Given the description of an element on the screen output the (x, y) to click on. 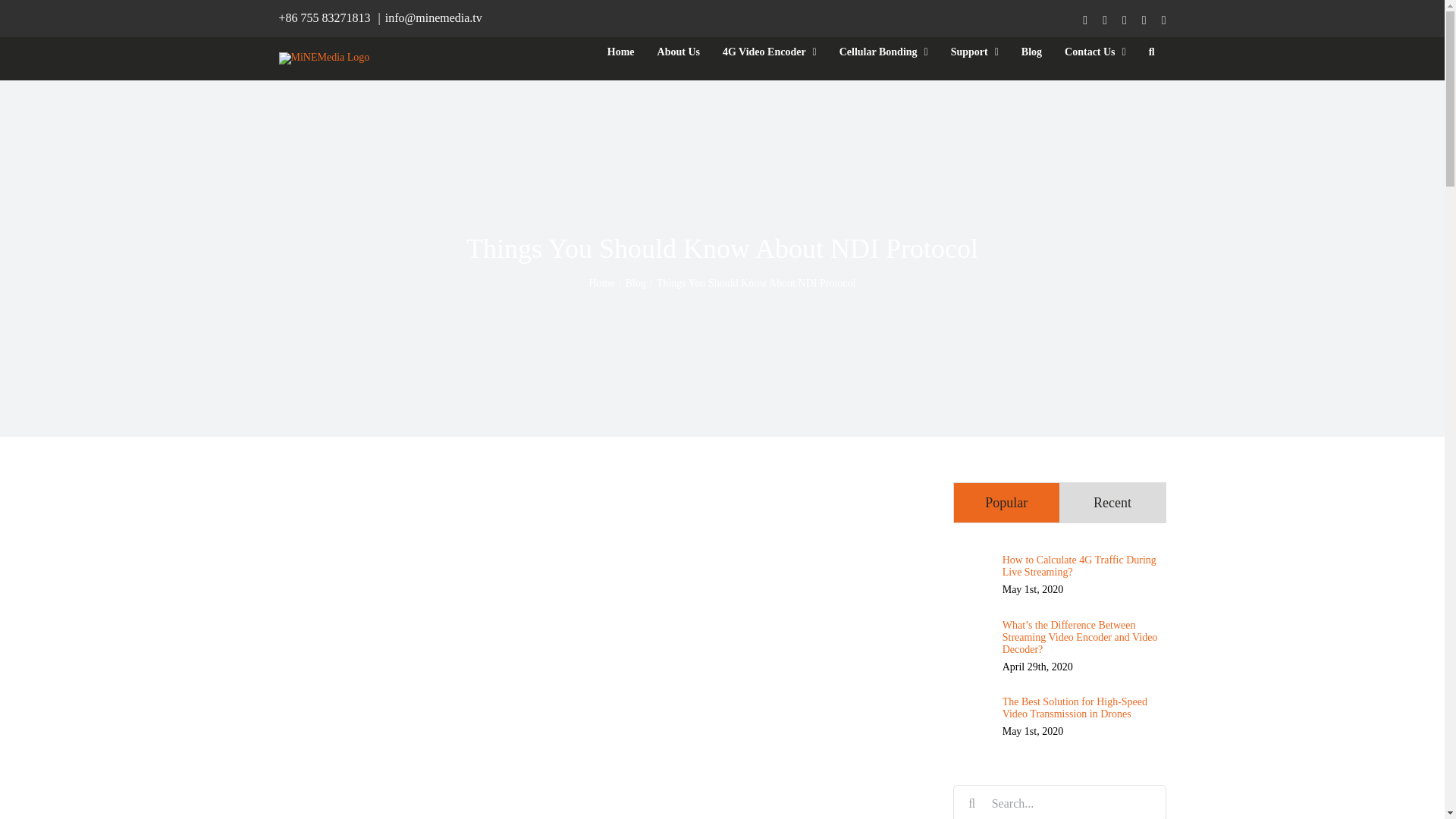
Cellular Bonding (883, 51)
Search (1151, 51)
Home (620, 51)
About Us (678, 51)
Contact Us (1094, 51)
Support (974, 51)
Blog (1031, 51)
4G Video Encoder (769, 51)
